Given the description of an element on the screen output the (x, y) to click on. 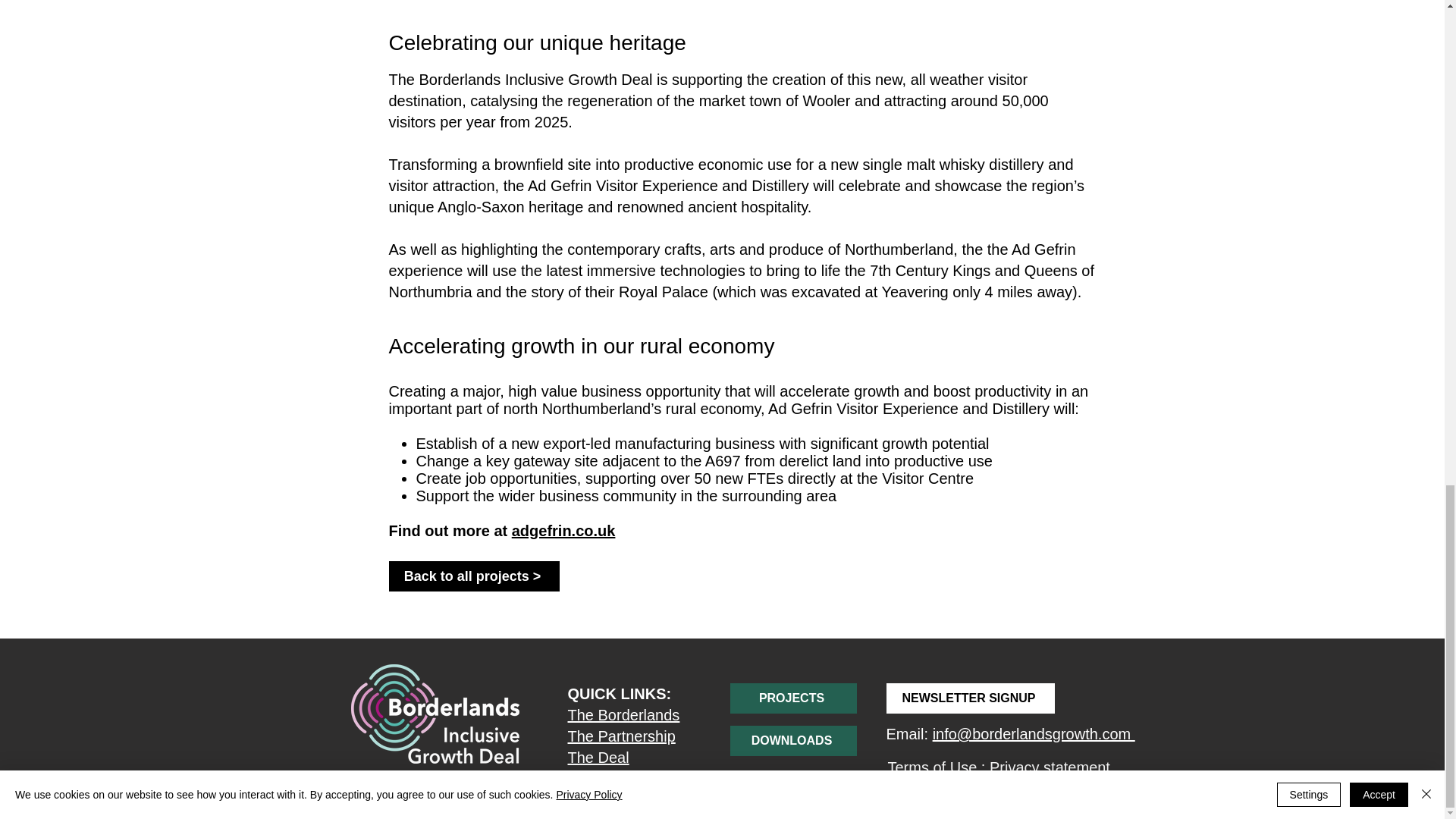
NEWSLETTER SIGNUP (969, 698)
PROJECTS (792, 698)
Contact Us (604, 778)
The Borderlands (623, 714)
Freedom Of Information (967, 784)
Privacy statement (1049, 767)
DOWNLOADS (792, 740)
The Deal (597, 757)
The Partnership (621, 736)
adgefrin.co.uk (563, 530)
